Given the description of an element on the screen output the (x, y) to click on. 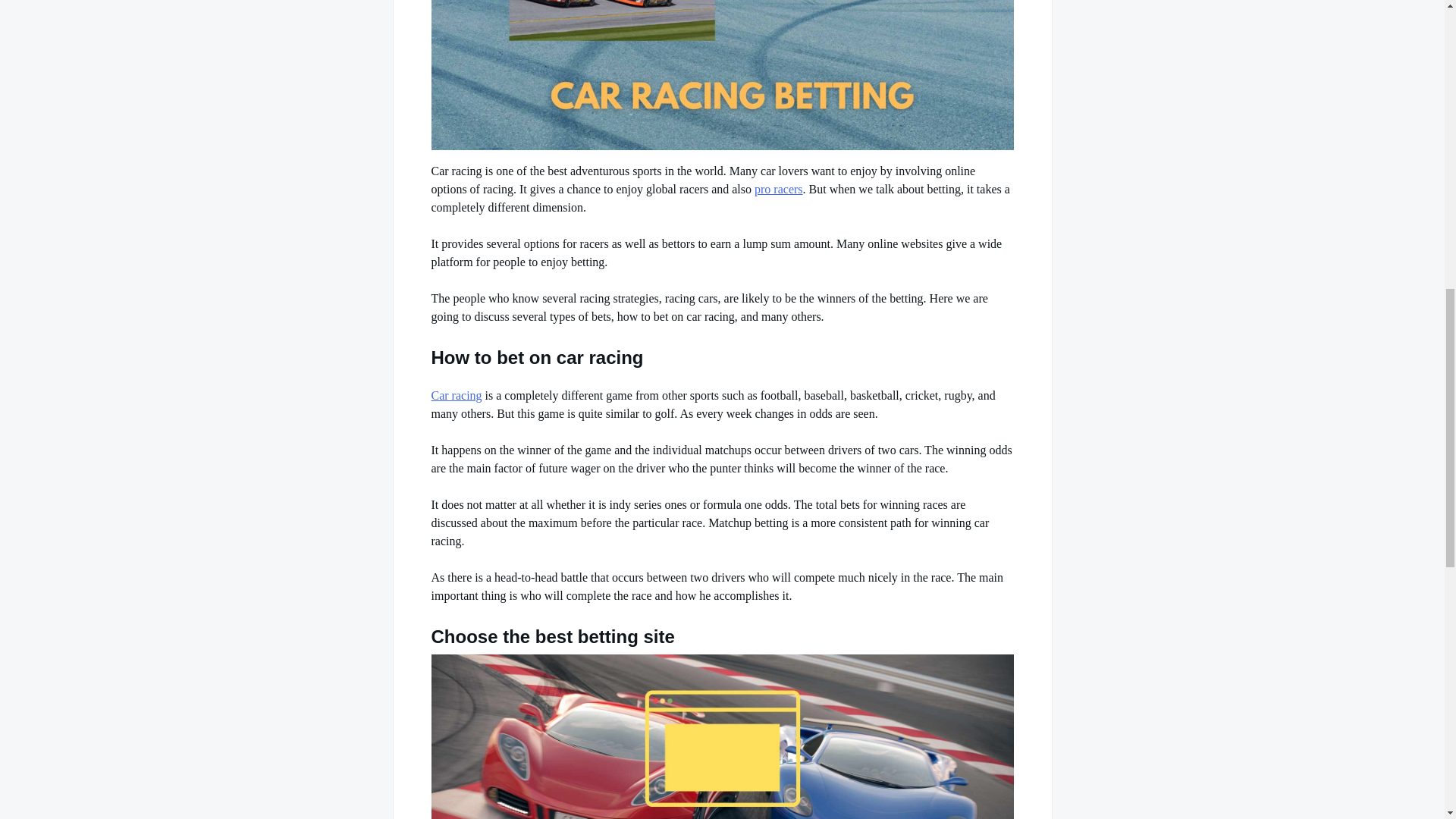
Car racing (455, 395)
pro racers (778, 188)
